Given the description of an element on the screen output the (x, y) to click on. 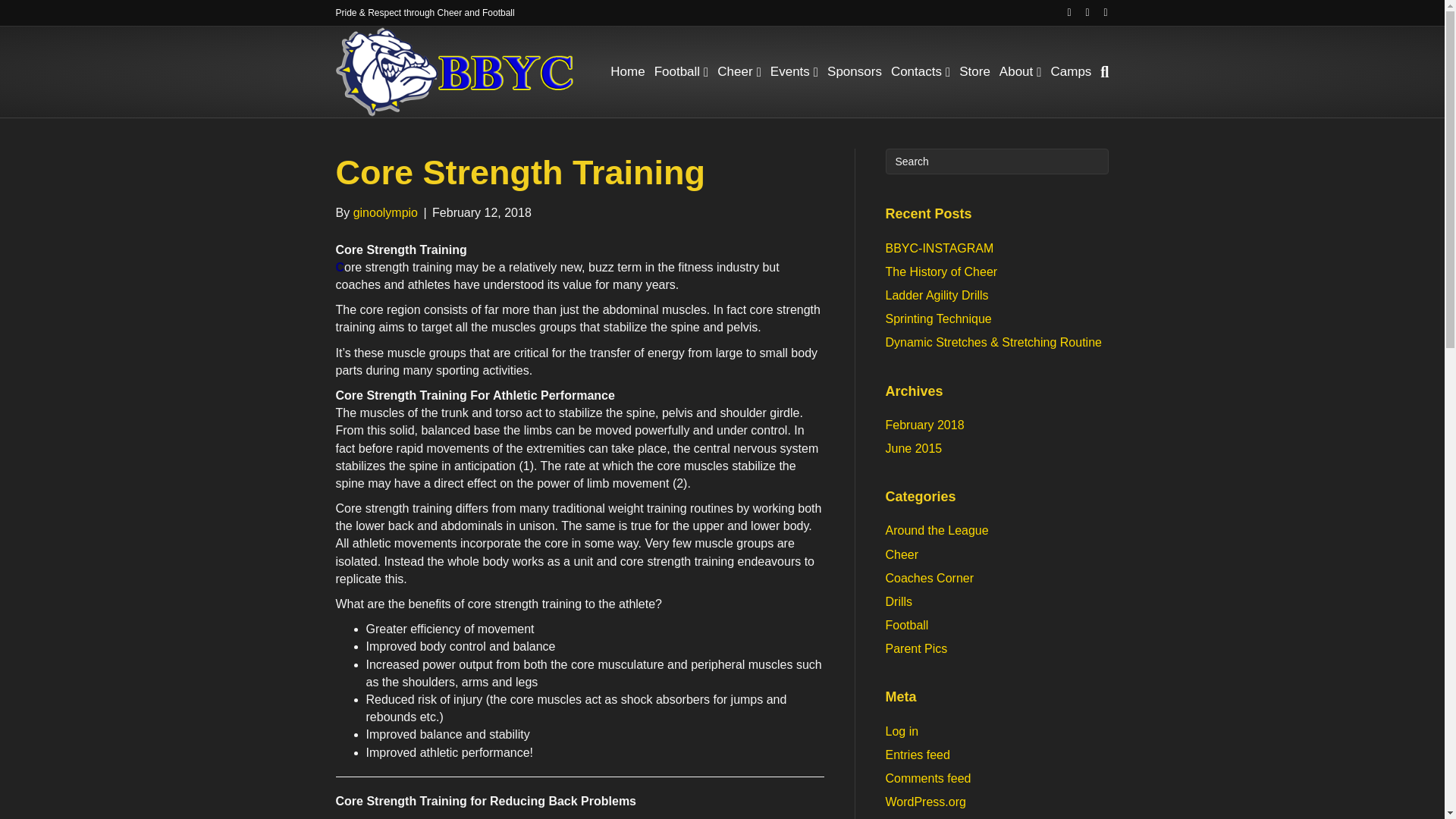
Facebook (1061, 11)
Cheer (739, 71)
Football (681, 71)
Contacts (920, 71)
Sponsors (854, 71)
Search (997, 161)
Search (997, 161)
Type and press Enter to search. (997, 161)
Instagram (1079, 11)
Events (793, 71)
